Given the description of an element on the screen output the (x, y) to click on. 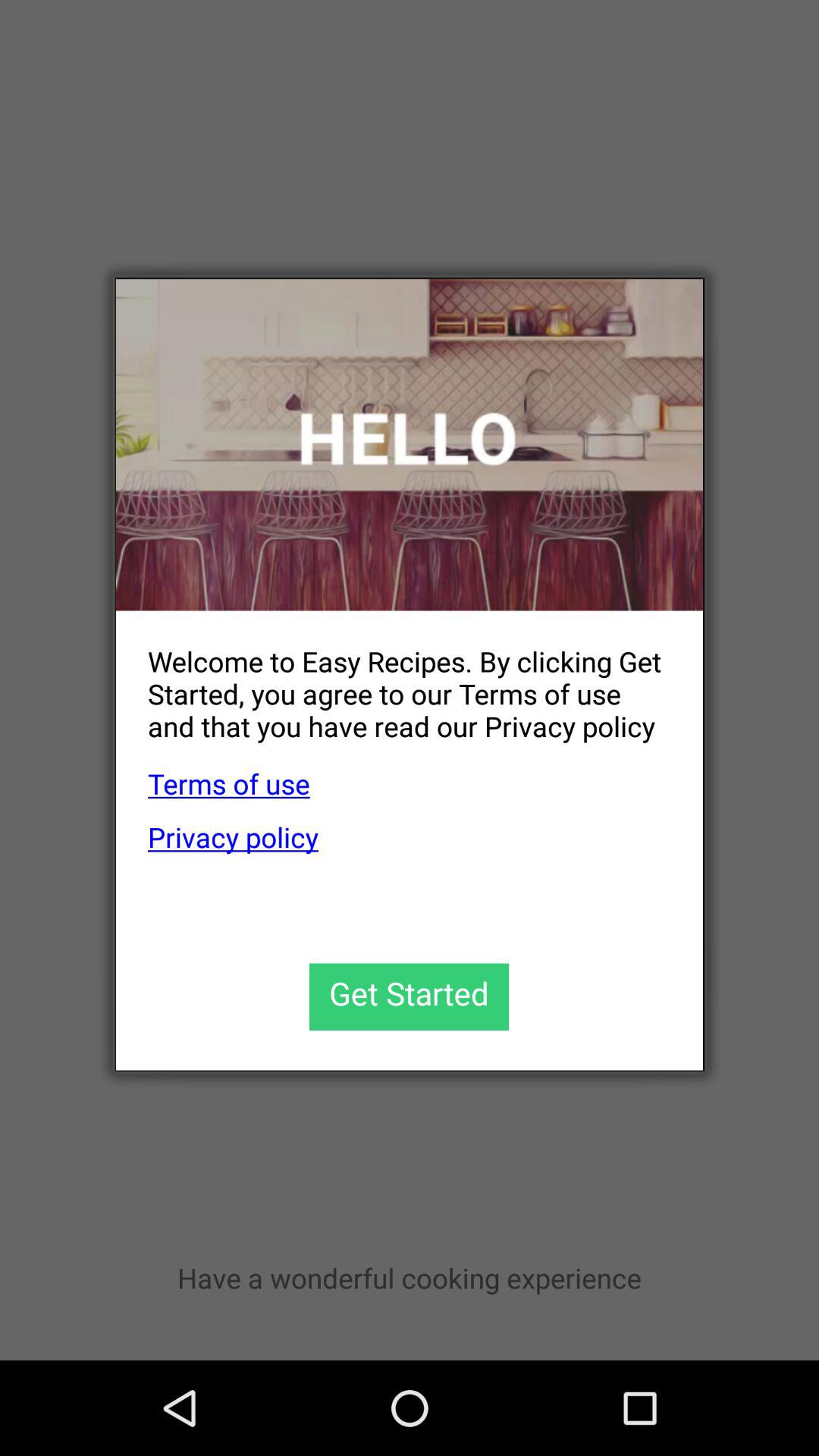
jump to welcome to easy app (393, 681)
